Given the description of an element on the screen output the (x, y) to click on. 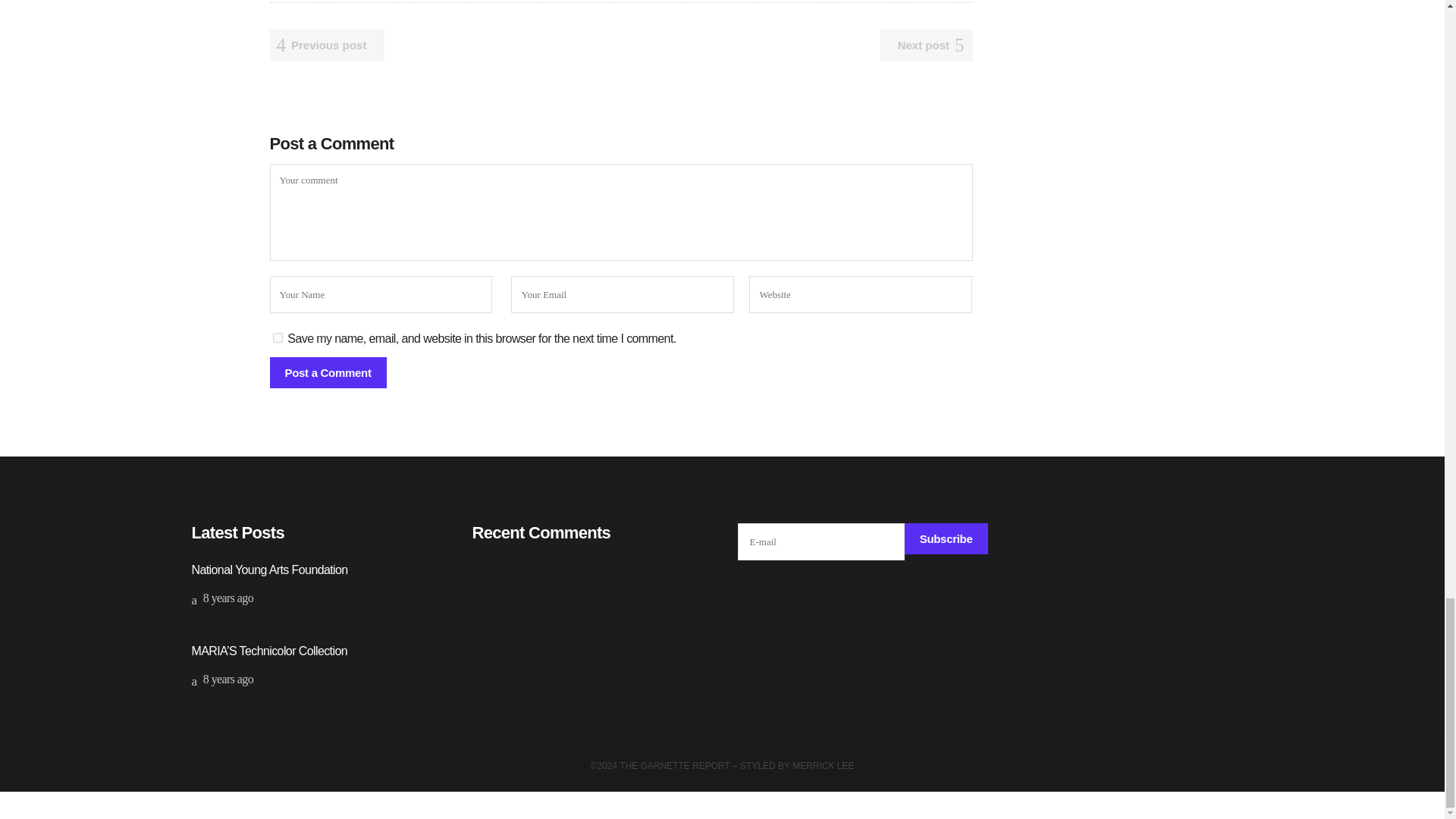
Post a Comment (328, 372)
Subscribe (946, 538)
yes (277, 337)
